Given the description of an element on the screen output the (x, y) to click on. 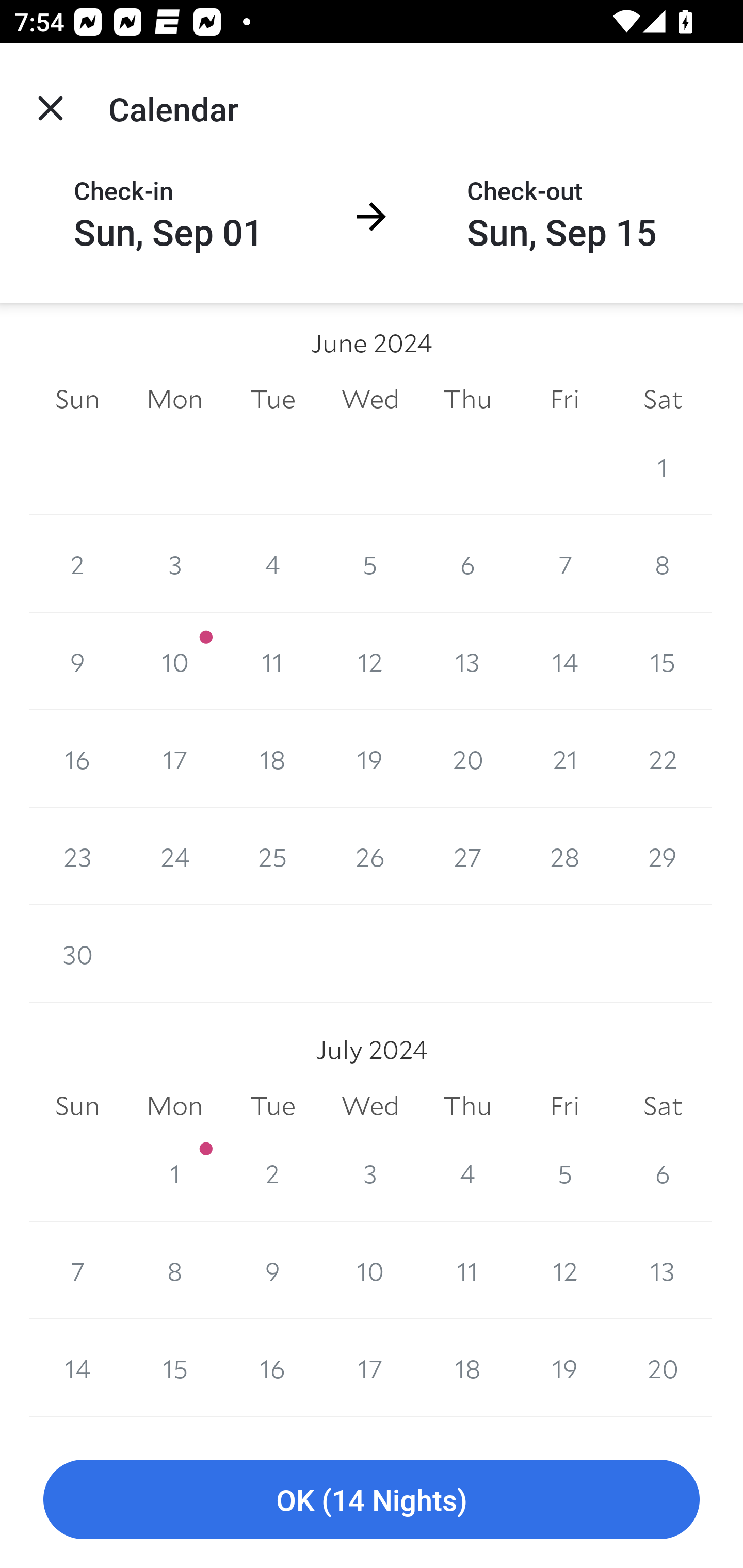
Sun (77, 399)
Mon (174, 399)
Tue (272, 399)
Wed (370, 399)
Thu (467, 399)
Fri (564, 399)
Sat (662, 399)
1 1 June 2024 (662, 466)
2 2 June 2024 (77, 564)
3 3 June 2024 (174, 564)
4 4 June 2024 (272, 564)
5 5 June 2024 (370, 564)
6 6 June 2024 (467, 564)
7 7 June 2024 (564, 564)
8 8 June 2024 (662, 564)
9 9 June 2024 (77, 661)
10 10 June 2024 (174, 661)
11 11 June 2024 (272, 661)
12 12 June 2024 (370, 661)
13 13 June 2024 (467, 661)
14 14 June 2024 (564, 661)
15 15 June 2024 (662, 661)
16 16 June 2024 (77, 758)
17 17 June 2024 (174, 758)
18 18 June 2024 (272, 758)
19 19 June 2024 (370, 758)
20 20 June 2024 (467, 758)
21 21 June 2024 (564, 758)
22 22 June 2024 (662, 758)
23 23 June 2024 (77, 855)
24 24 June 2024 (174, 855)
25 25 June 2024 (272, 855)
26 26 June 2024 (370, 855)
27 27 June 2024 (467, 855)
28 28 June 2024 (564, 855)
29 29 June 2024 (662, 855)
30 30 June 2024 (77, 952)
Sun (77, 1105)
Mon (174, 1105)
Tue (272, 1105)
Wed (370, 1105)
Thu (467, 1105)
Fri (564, 1105)
Sat (662, 1105)
1 1 July 2024 (174, 1172)
2 2 July 2024 (272, 1172)
3 3 July 2024 (370, 1172)
4 4 July 2024 (467, 1172)
5 5 July 2024 (564, 1172)
